Given the description of an element on the screen output the (x, y) to click on. 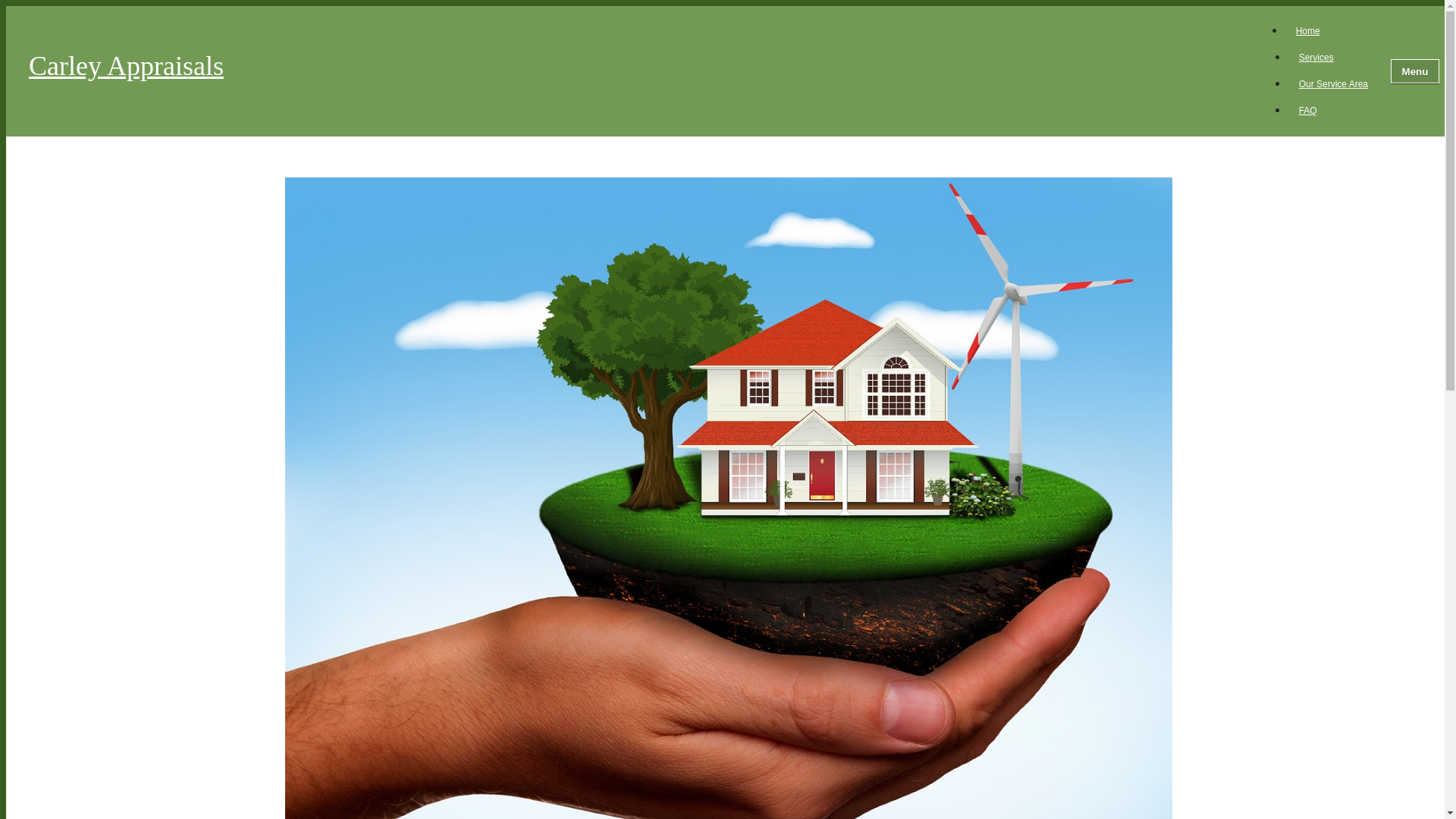
Our Service Area (1332, 84)
Services (1316, 57)
Menu (1414, 70)
FAQ (1307, 110)
Carley Appraisals (641, 71)
Home (1308, 30)
